Given the description of an element on the screen output the (x, y) to click on. 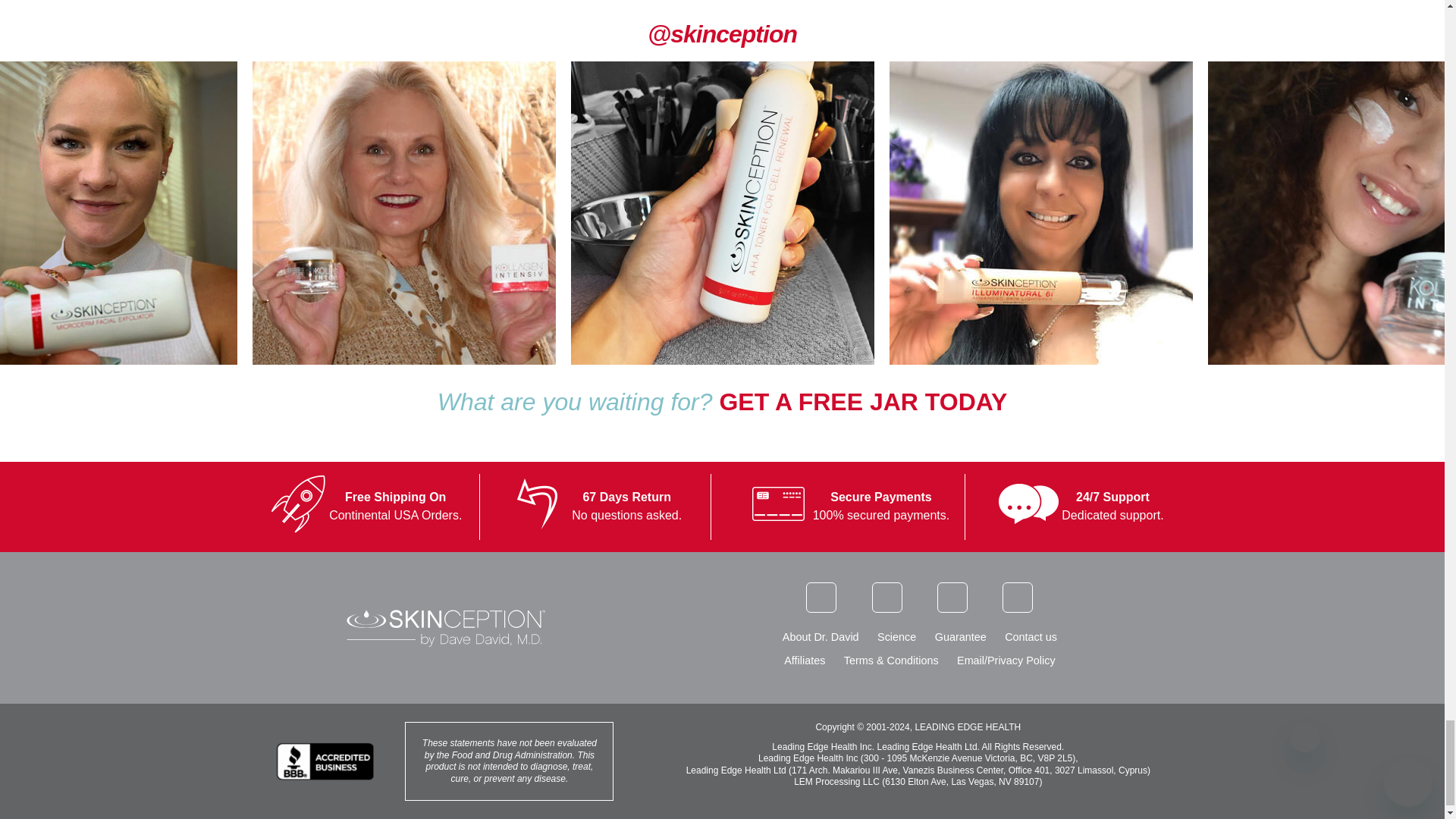
About Dr. David (821, 636)
Science (896, 636)
GET A FREE JAR TODAY (863, 401)
Contact us (1030, 636)
Guarantee (960, 636)
Affiliates (804, 660)
